Given the description of an element on the screen output the (x, y) to click on. 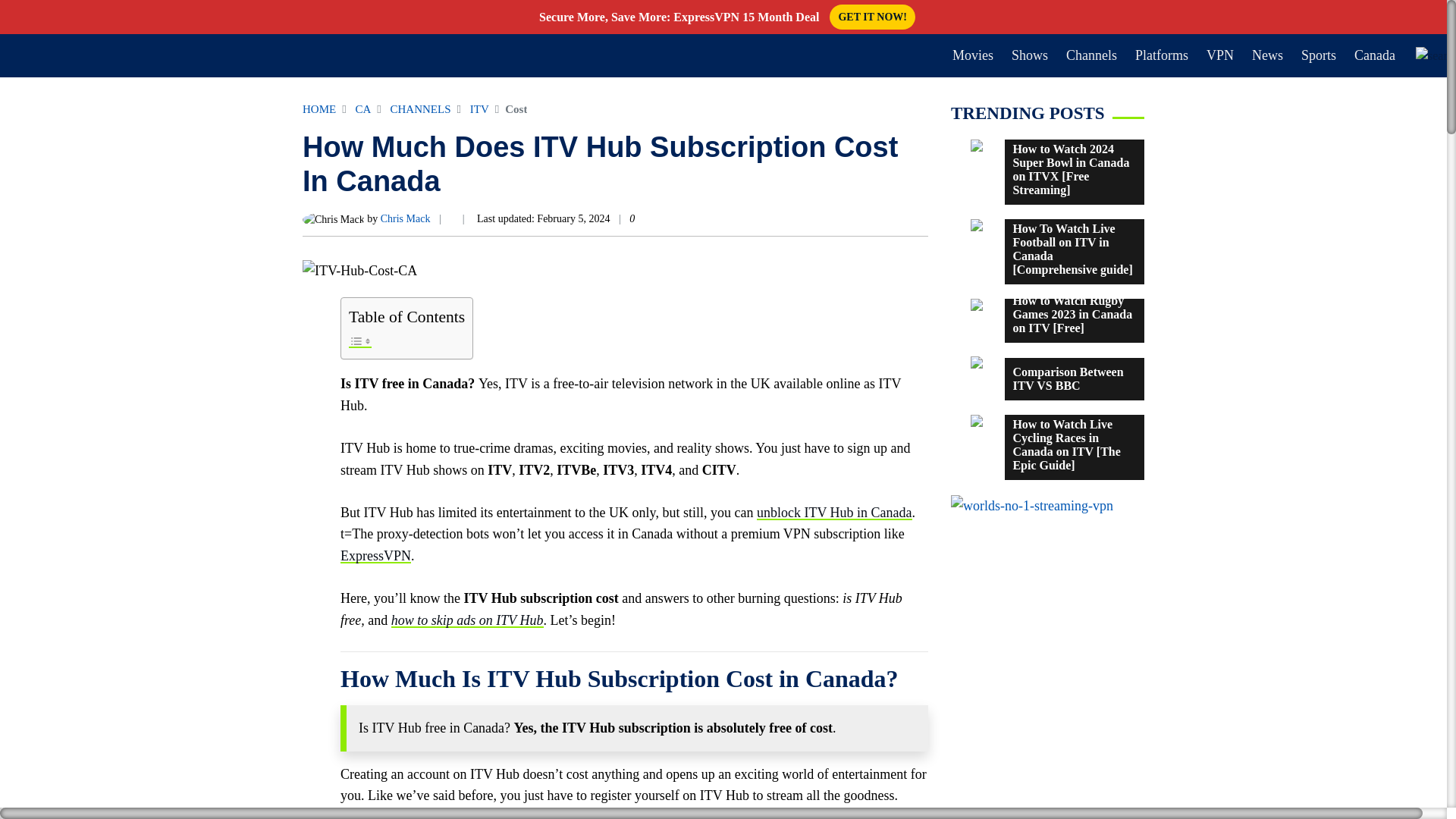
Movies (972, 55)
Canada (1374, 55)
Channels (1090, 55)
GET IT NOW! (872, 16)
Secure More, Save More: ExpressVPN 15 Month Deal GET IT NOW! (723, 16)
Shows (1029, 55)
